Given the description of an element on the screen output the (x, y) to click on. 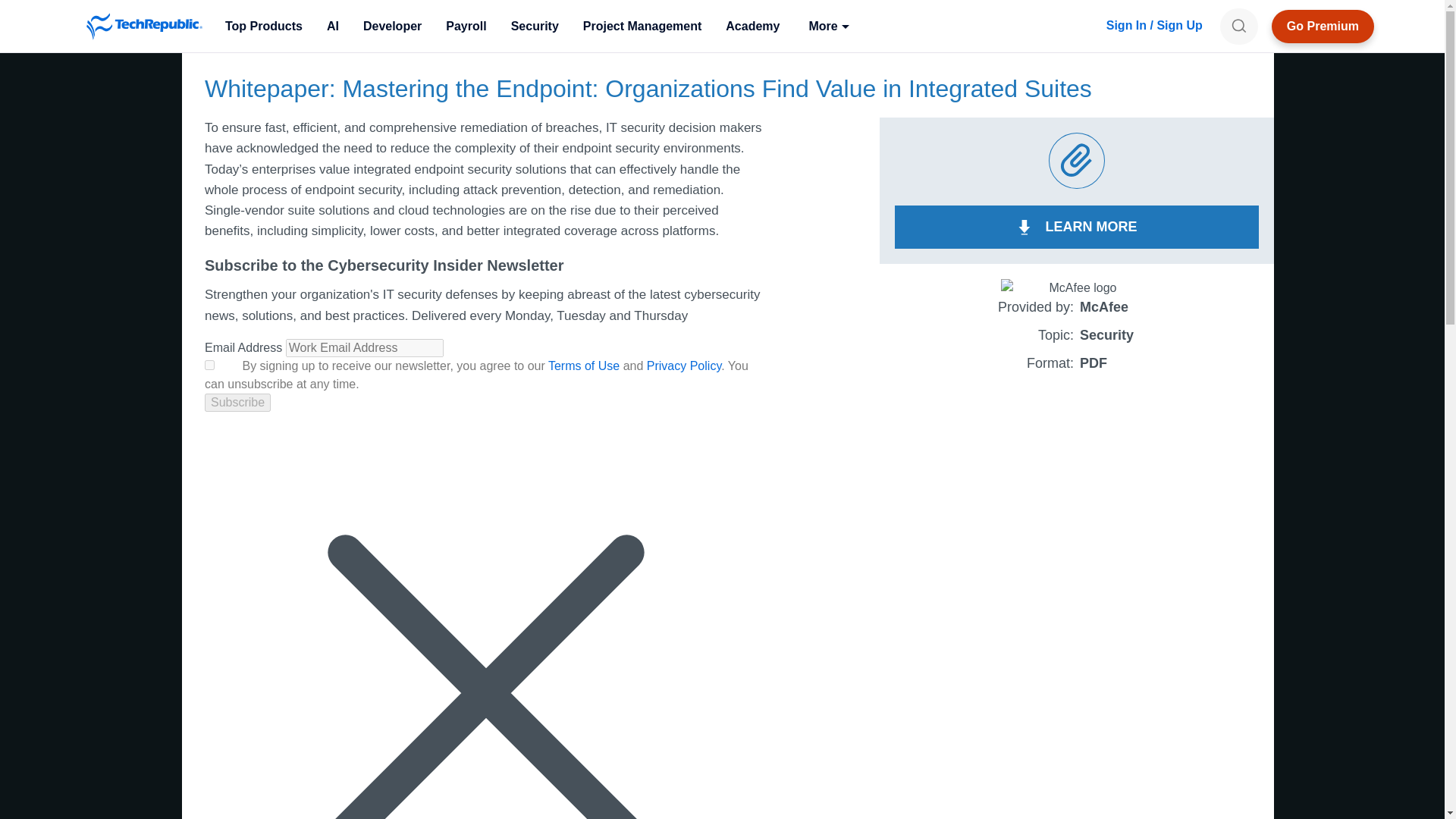
TechRepublic (143, 25)
TechRepublic Premium (1322, 25)
Security (534, 26)
TechRepublic (143, 25)
LEARN MORE (1077, 226)
Academy (752, 26)
Project Management (641, 26)
Payroll (465, 26)
Terms of Use (584, 365)
on (209, 365)
Go Premium (1322, 25)
Subscribe (237, 402)
Privacy Policy (683, 365)
TechRepublic (143, 25)
Top Products (263, 26)
